Given the description of an element on the screen output the (x, y) to click on. 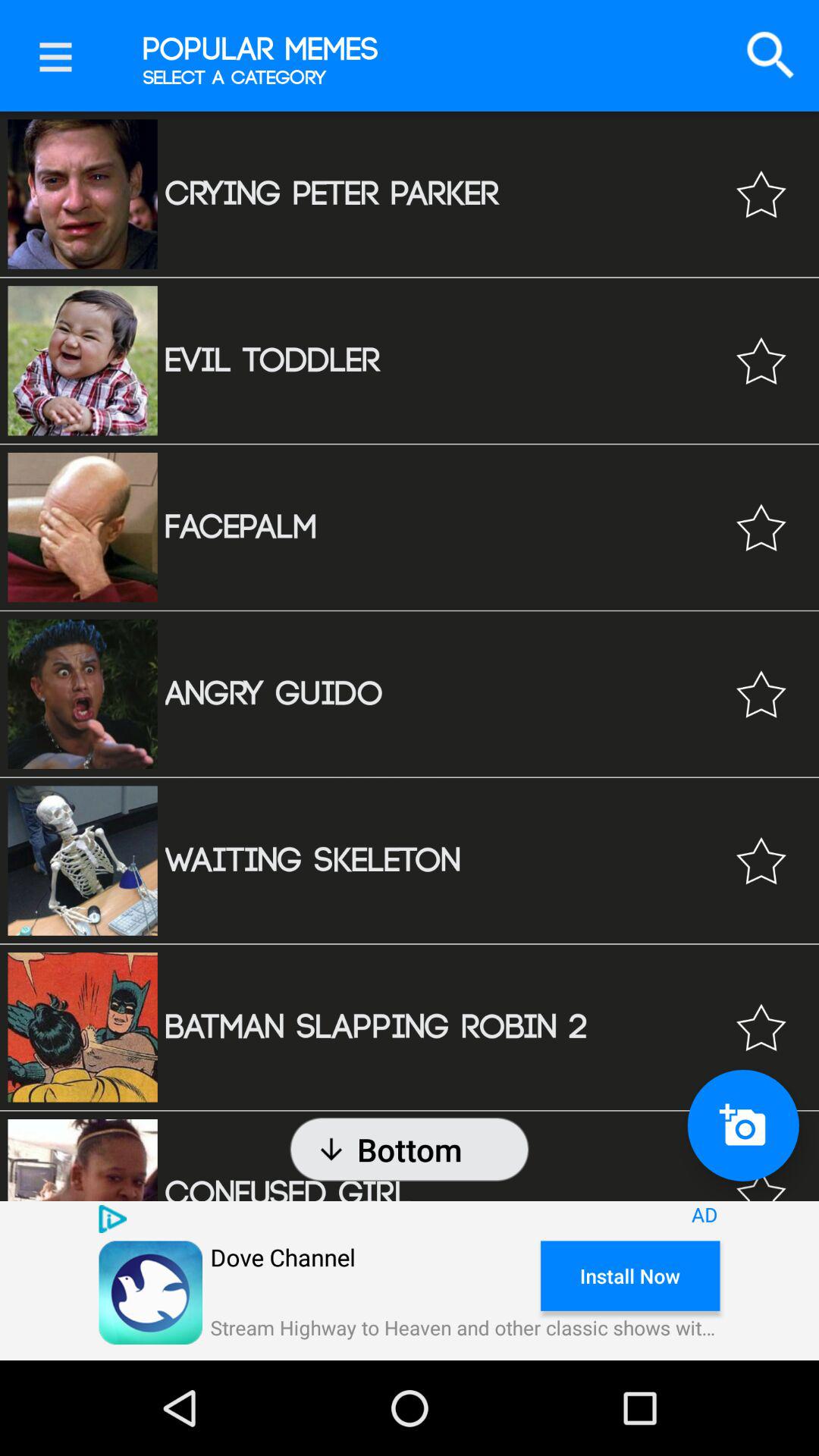
click for favorite (761, 1027)
